Given the description of an element on the screen output the (x, y) to click on. 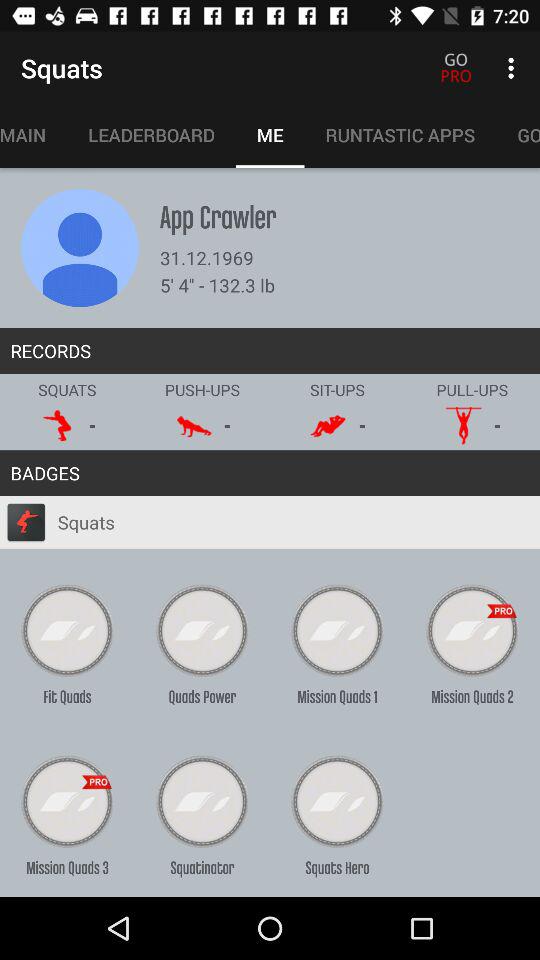
edit profile (80, 248)
